Given the description of an element on the screen output the (x, y) to click on. 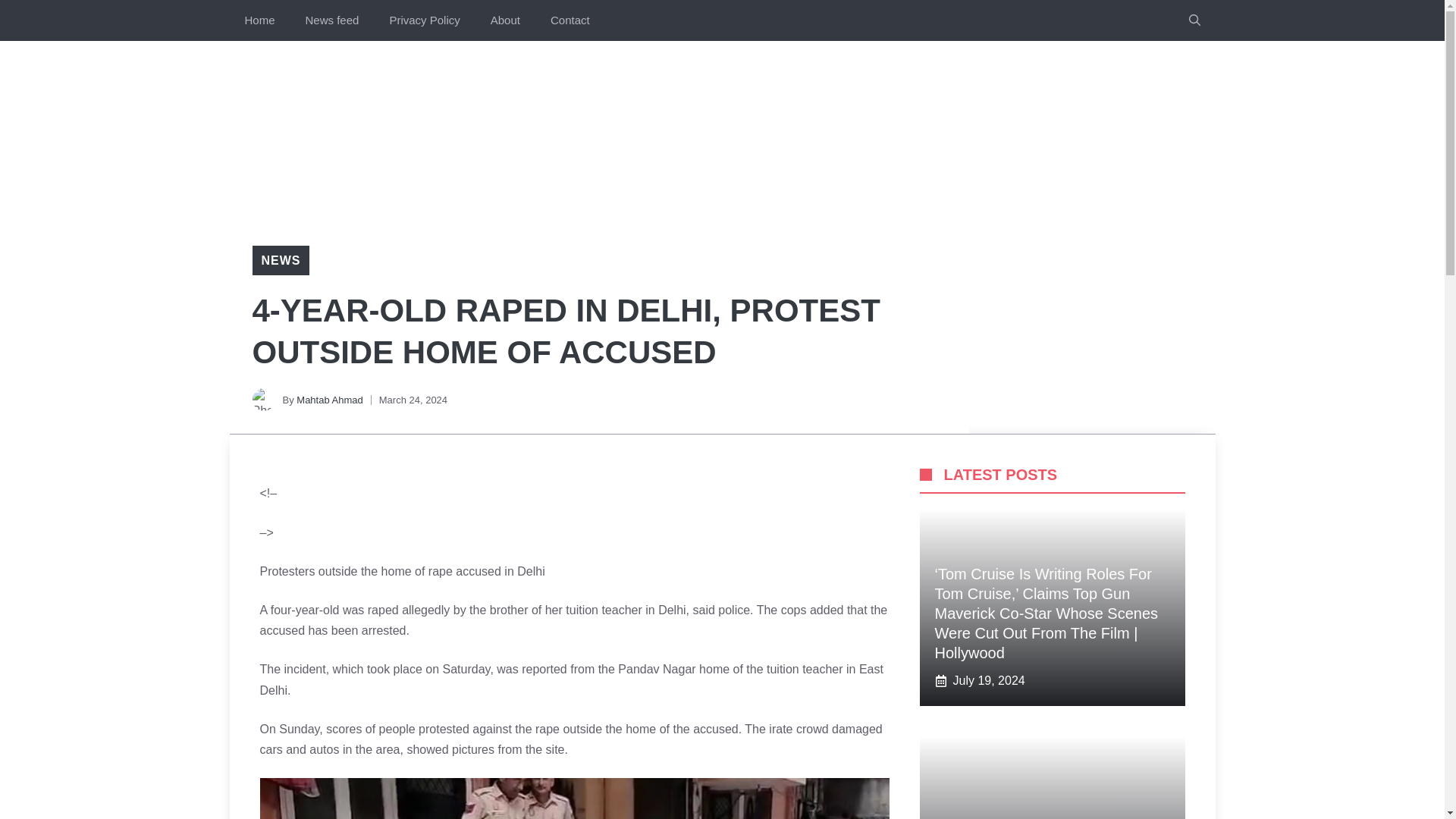
Home (258, 20)
NEWS (279, 259)
Mahtab Ahmad (329, 399)
Latest and Breaking News on NDTV (573, 798)
Privacy Policy (424, 20)
Contact (570, 20)
News feed (331, 20)
About (505, 20)
